Given the description of an element on the screen output the (x, y) to click on. 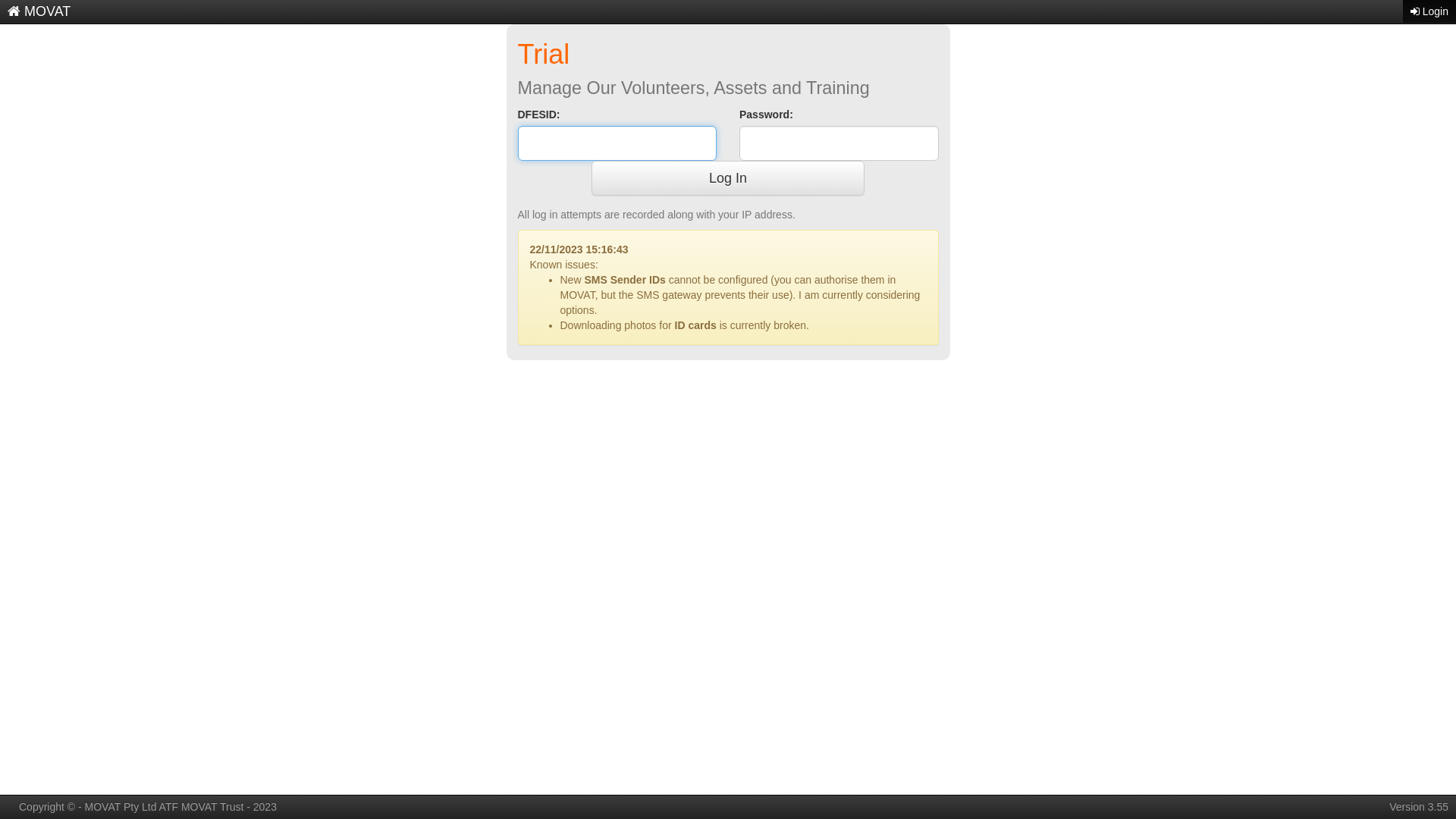
Log In Element type: text (727, 177)
MOVAT Element type: text (39, 11)
